Given the description of an element on the screen output the (x, y) to click on. 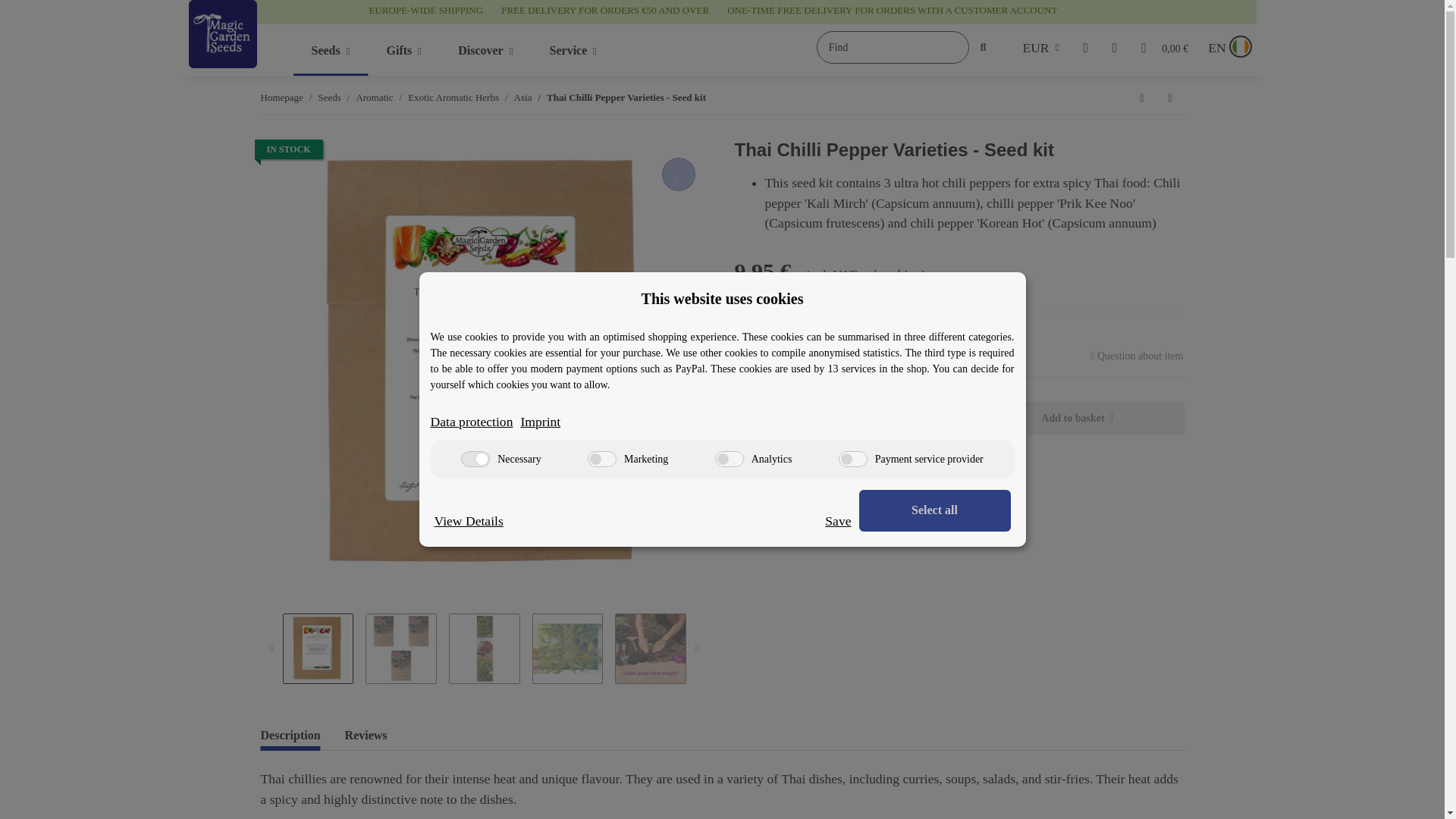
Seeds (330, 50)
Homepage (281, 97)
on (475, 458)
Gifts (404, 50)
Seeds (330, 50)
Gifts (404, 50)
Asia (522, 97)
Seeds (328, 97)
Aromatic (547, 59)
1 (374, 97)
Exotic Aromatic Herbs (823, 418)
on (453, 97)
on (852, 458)
Thai Chilli Pepper Varieties - Seed kit (601, 458)
